Given the description of an element on the screen output the (x, y) to click on. 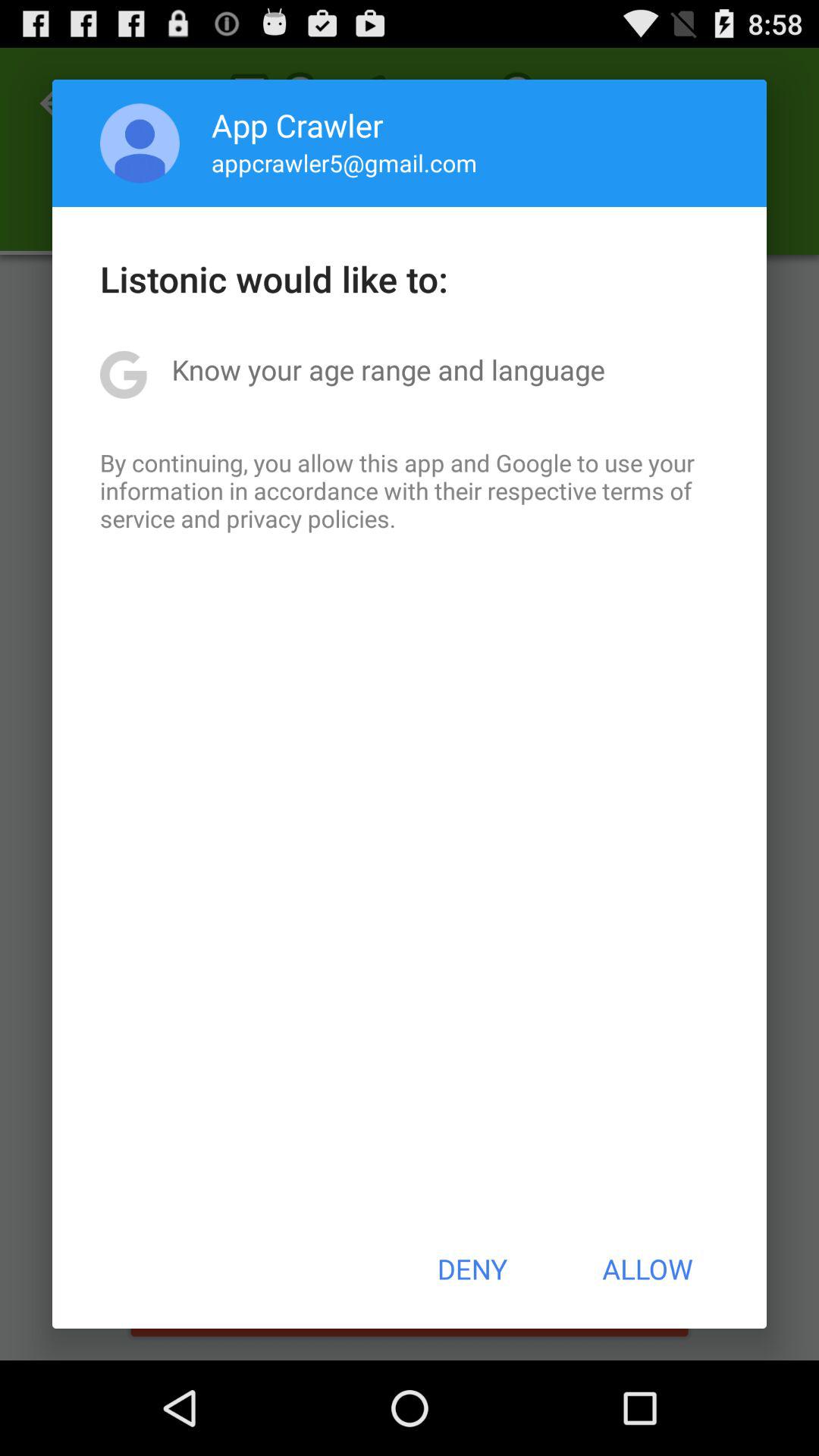
open icon next to the allow (471, 1268)
